Given the description of an element on the screen output the (x, y) to click on. 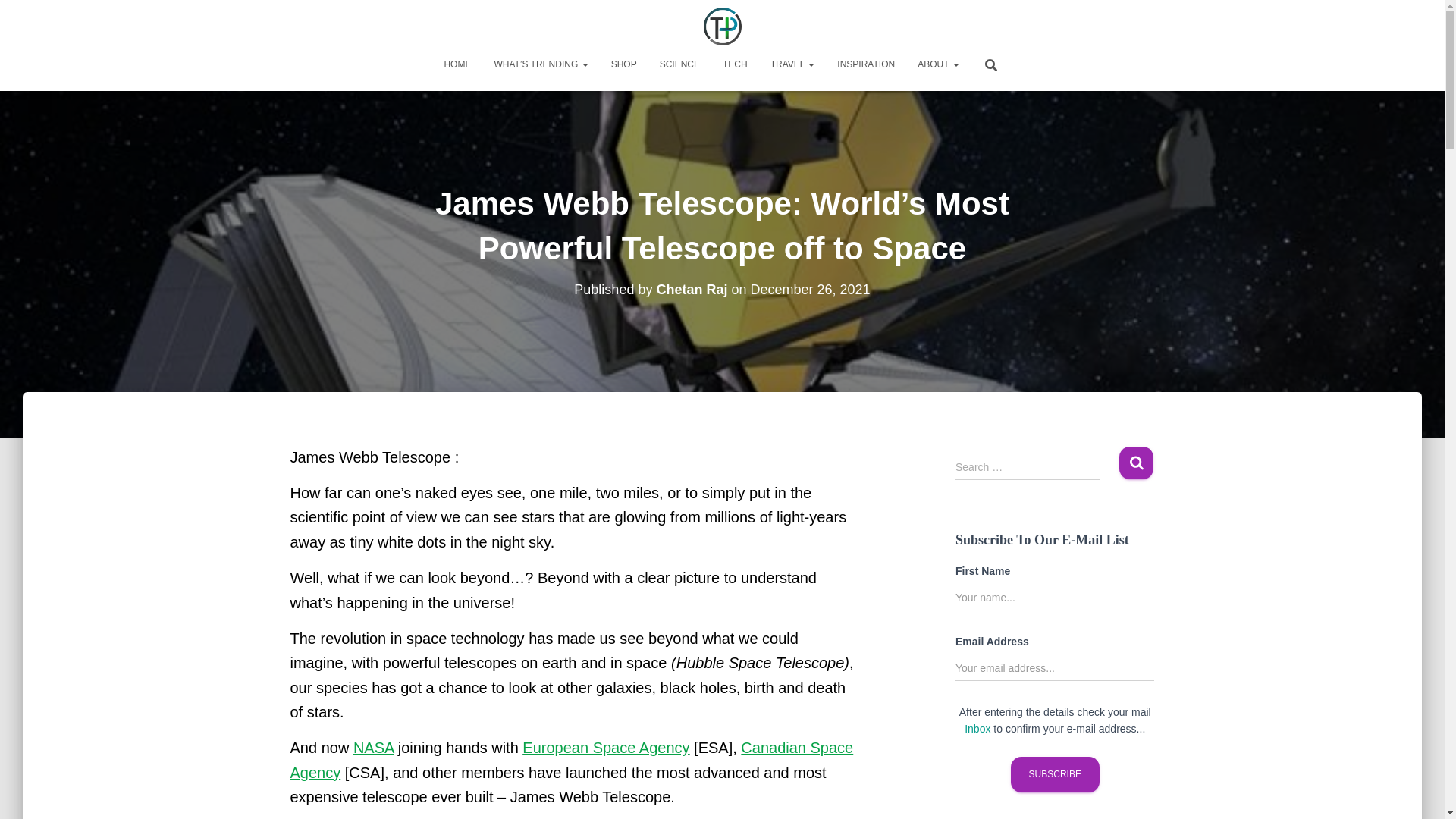
About (937, 64)
Science (679, 64)
TRAVEL (792, 64)
Tech (734, 64)
INSPIRATION (865, 64)
Search (1136, 462)
SHOP (623, 64)
TECH (734, 64)
Shop (623, 64)
European Space Agency (605, 747)
NASA (373, 747)
Subscribe (1054, 774)
ABOUT (937, 64)
The Hoard Planet (721, 26)
Inspiration (865, 64)
